Given the description of an element on the screen output the (x, y) to click on. 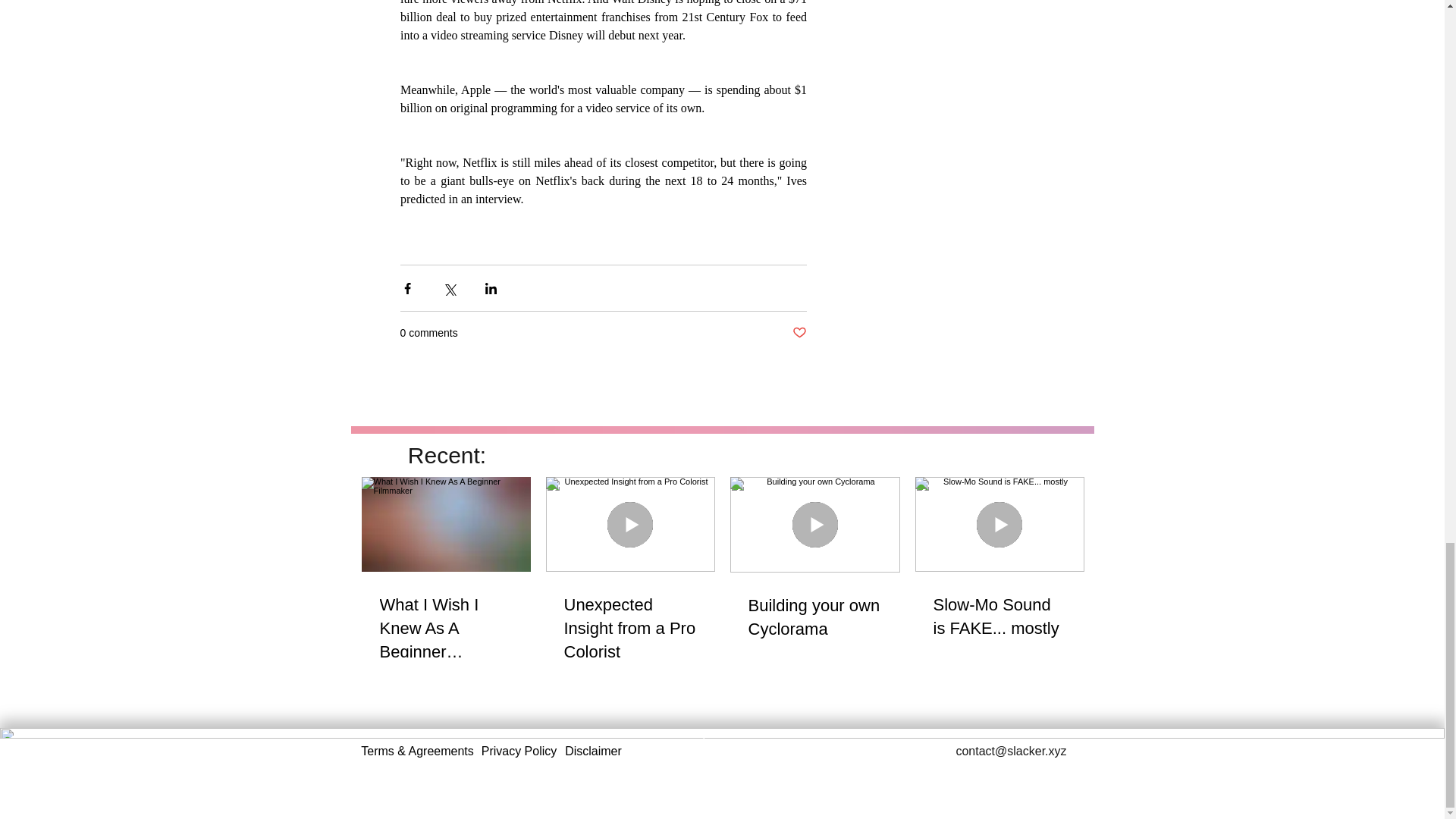
Privacy Policy (519, 750)
Post not marked as liked (799, 333)
Disclaimer (592, 750)
Slow-Mo Sound is FAKE... mostly (999, 616)
Building your own Cyclorama (814, 617)
What I Wish I Knew As A Beginner Filmmaker (445, 628)
Unexpected Insight from a Pro Colorist (630, 628)
